Given the description of an element on the screen output the (x, y) to click on. 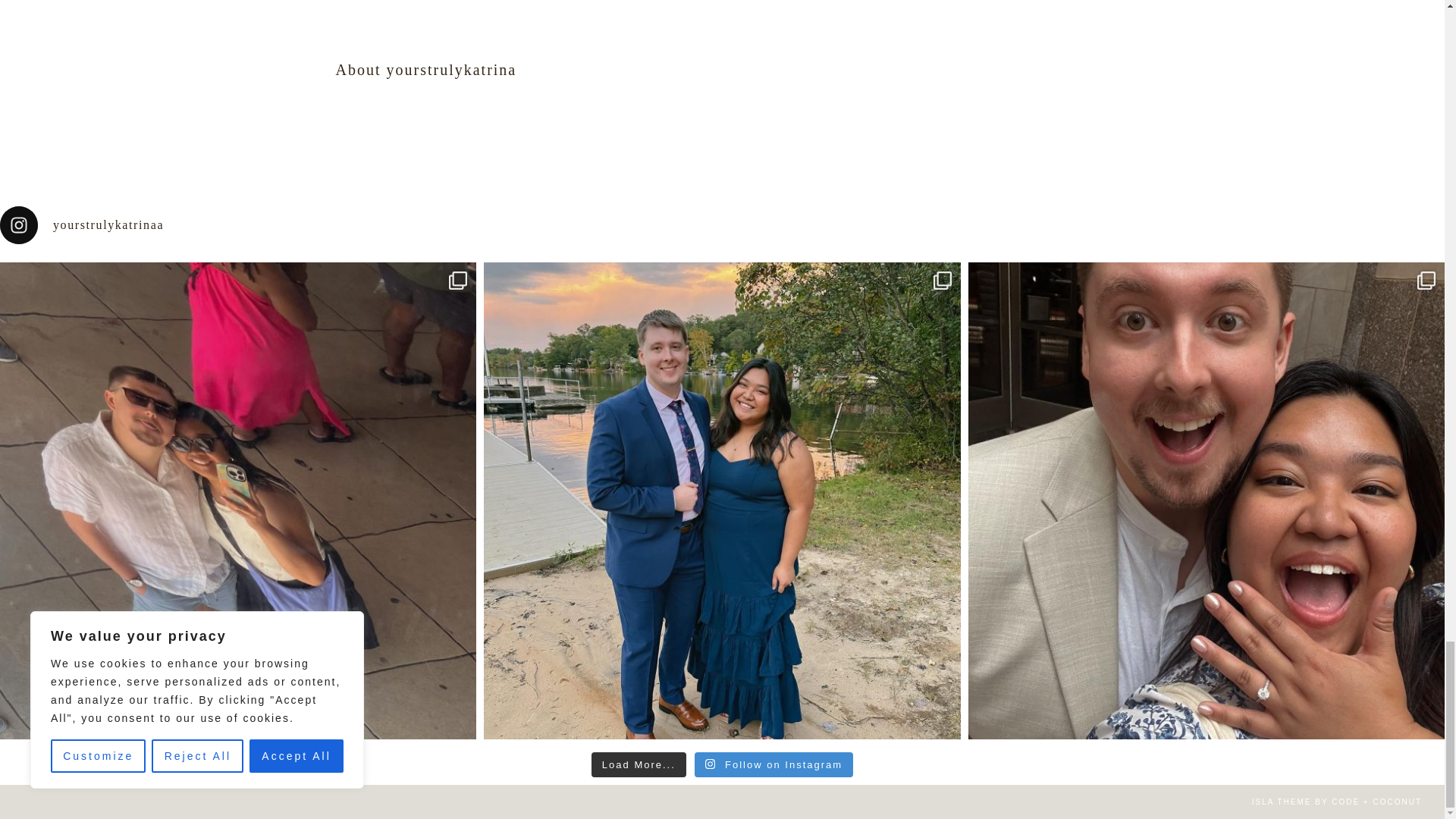
Isla Theme (1281, 801)
